Given the description of an element on the screen output the (x, y) to click on. 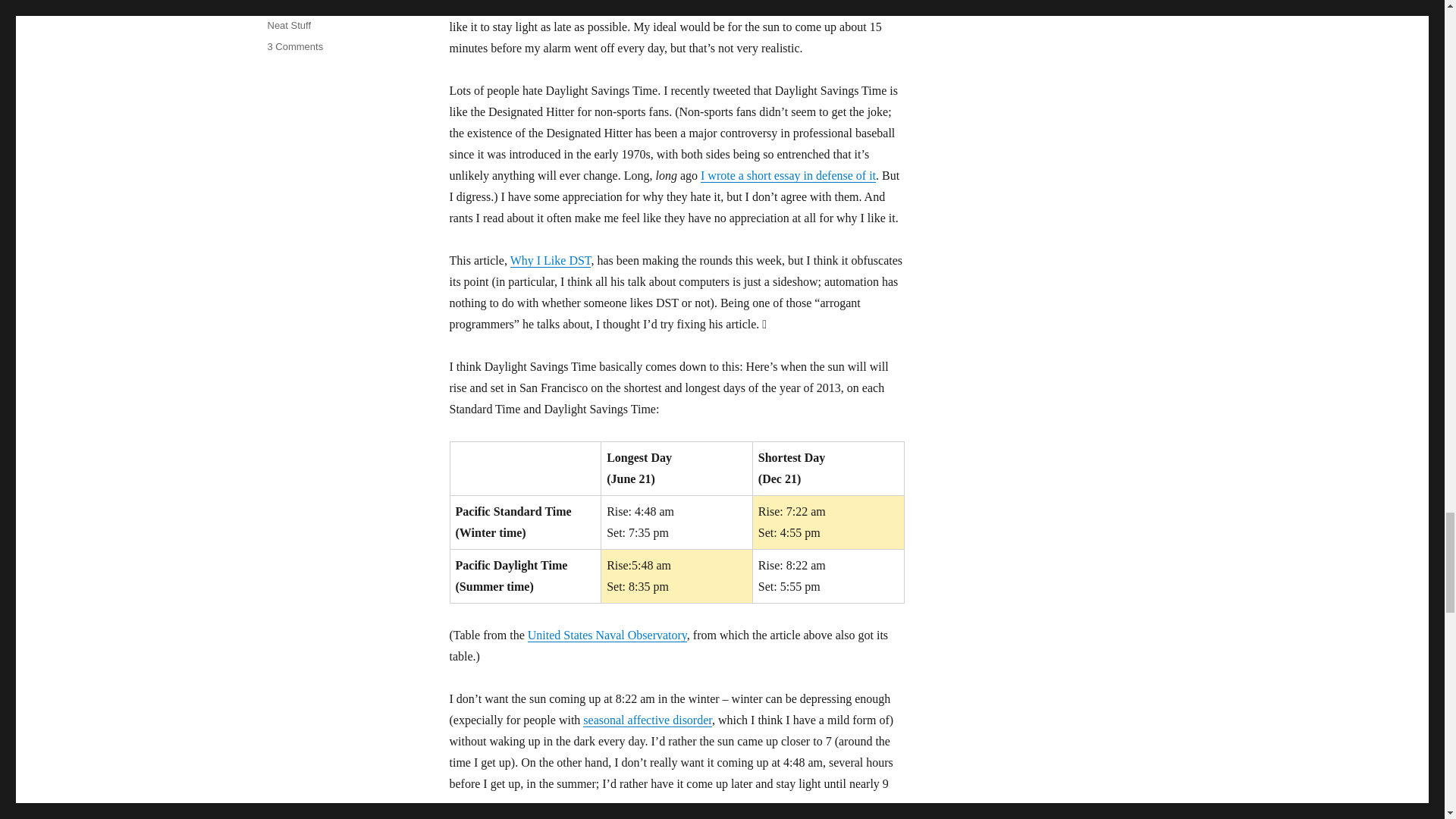
Why I Like DST (551, 259)
12 March 2013 (294, 46)
seasonal affective disorder (299, 4)
Neat Stuff (647, 719)
United States Naval Observatory (288, 25)
I wrote a short essay in defense of it (607, 634)
